Given the description of an element on the screen output the (x, y) to click on. 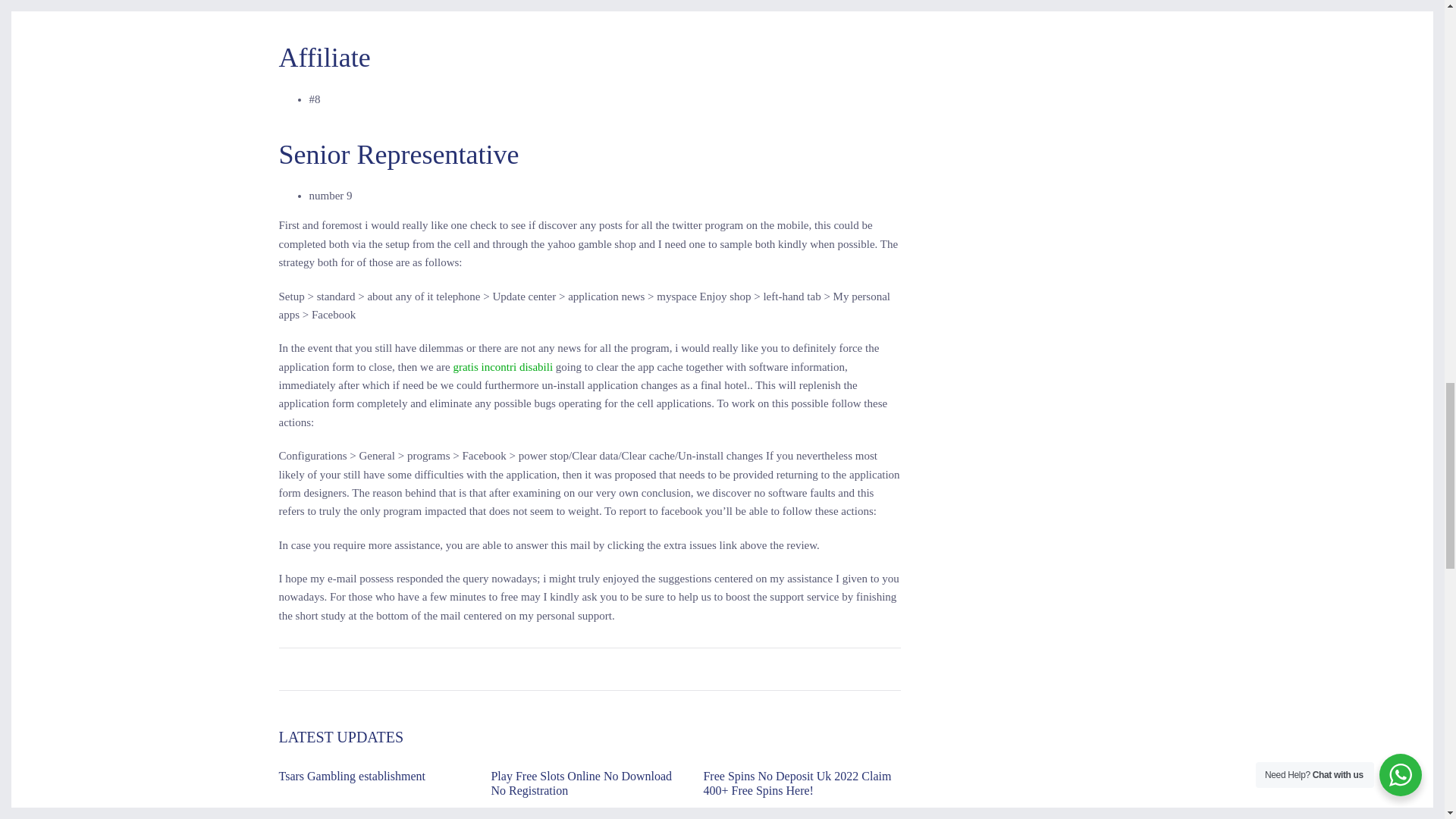
gratis incontri disabili (502, 367)
Tsars Gambling establishment (352, 775)
